Given the description of an element on the screen output the (x, y) to click on. 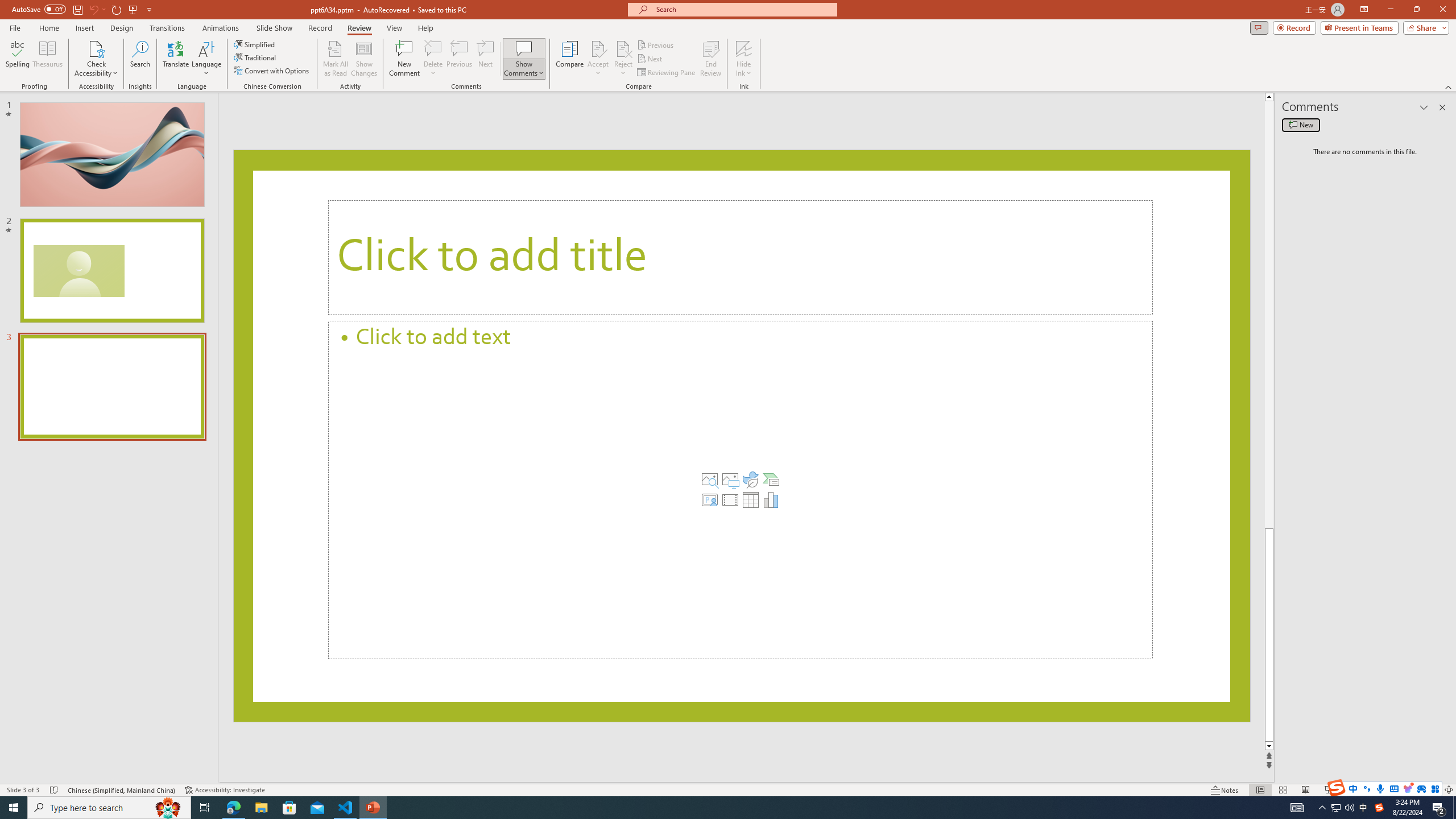
Convert with Options... (272, 69)
Accept (598, 58)
Mark All as Read (335, 58)
Simplified (254, 44)
Spelling... (17, 58)
